Given the description of an element on the screen output the (x, y) to click on. 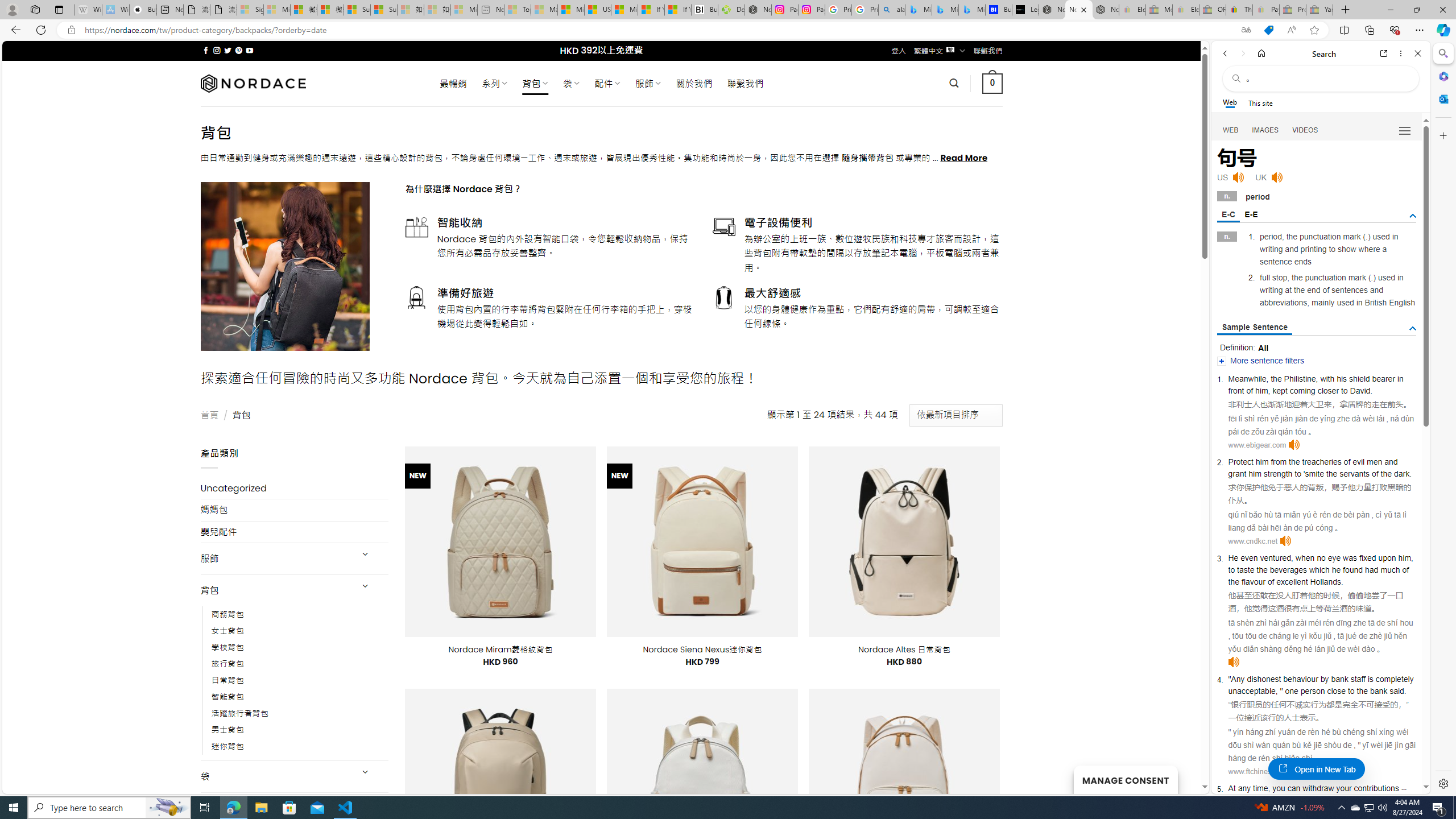
any (1243, 787)
Threats and offensive language policy | eBay (1239, 9)
